Given the description of an element on the screen output the (x, y) to click on. 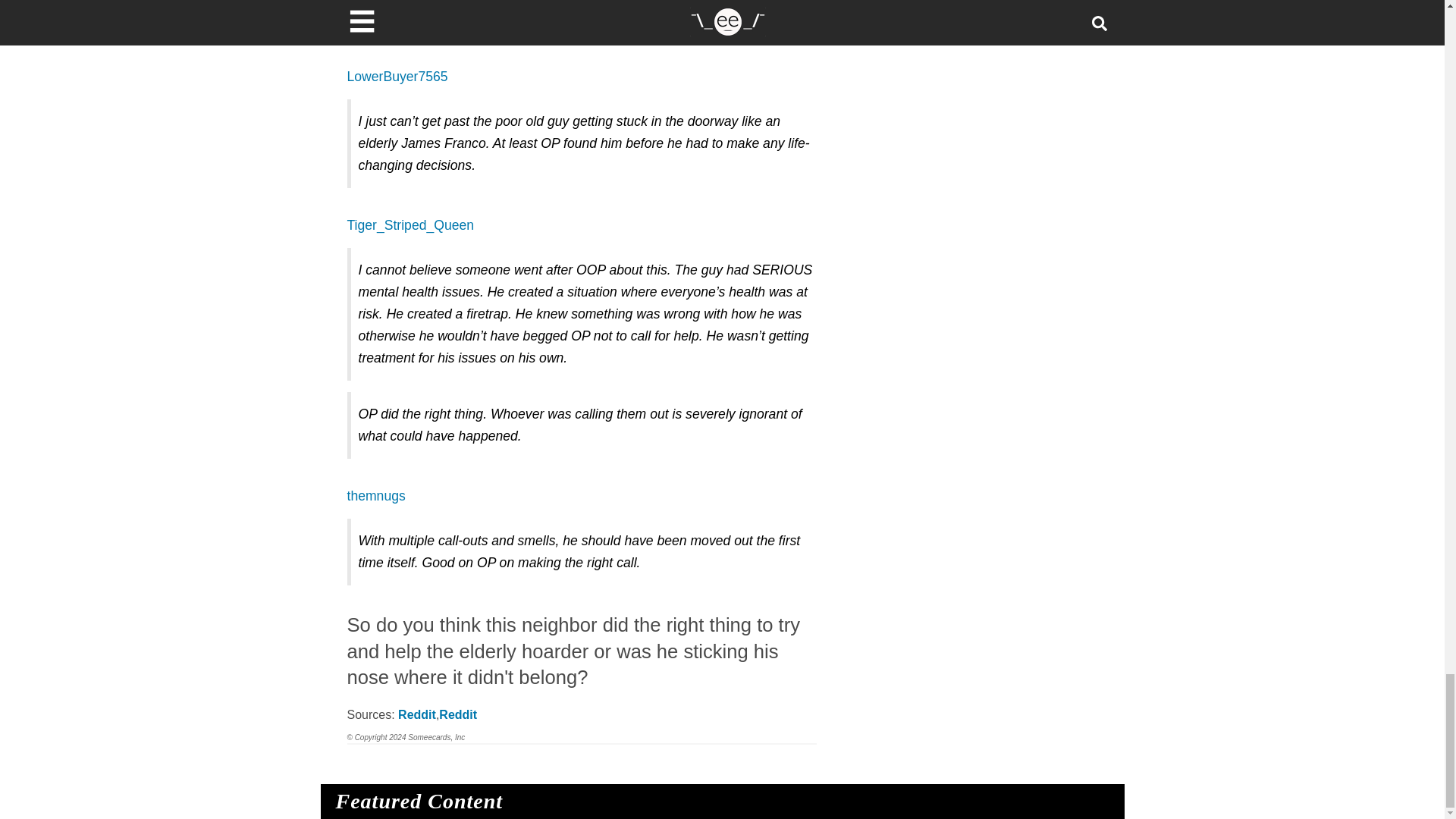
Reddit (458, 714)
Reddit (416, 714)
LowerBuyer7565 (397, 76)
themnugs (376, 495)
